Given the description of an element on the screen output the (x, y) to click on. 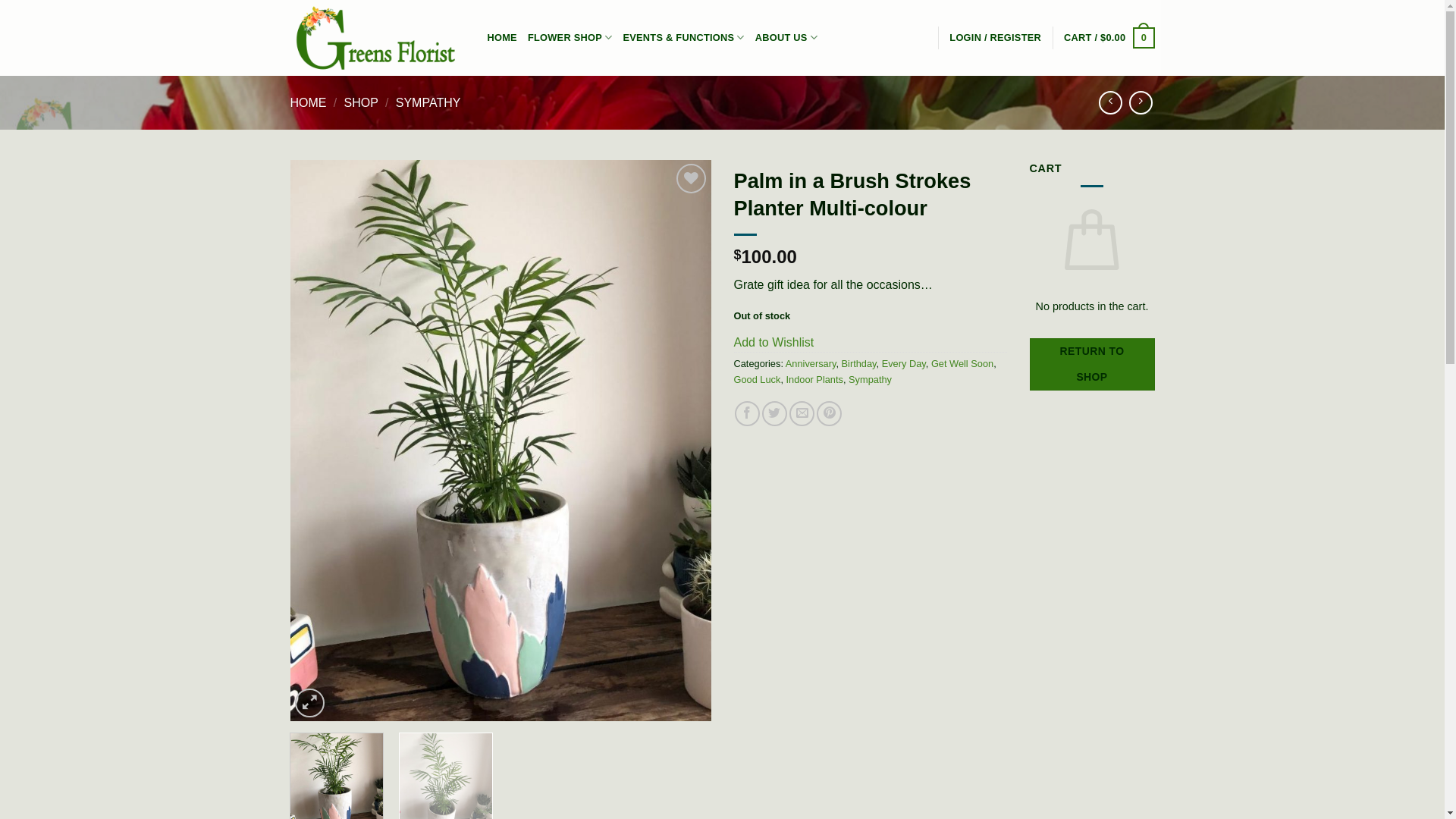
RETURN TO SHOP Element type: text (1091, 364)
Email to a Friend Element type: hover (801, 413)
Sympathy Element type: text (869, 379)
Zoom Element type: hover (309, 703)
HOME Element type: text (307, 102)
Pin on Pinterest Element type: hover (828, 413)
SYMPATHY Element type: text (428, 102)
CART / $0.00
0 Element type: text (1108, 37)
Anniversary Element type: text (810, 363)
ABOUT US Element type: text (786, 37)
Every Day Element type: text (903, 363)
FLOWER SHOP Element type: text (569, 37)
LOGIN / REGISTER Element type: text (995, 37)
Birthday Element type: text (858, 363)
SHOP Element type: text (360, 102)
Share on Facebook Element type: hover (746, 413)
Get Well Soon Element type: text (962, 363)
Add to Wishlist Element type: text (774, 341)
Share on Twitter Element type: hover (774, 413)
EVENTS & FUNCTIONS Element type: text (682, 37)
Indoor Plants Element type: text (814, 379)
Good Luck Element type: text (757, 379)
HOME Element type: text (501, 37)
